Given the description of an element on the screen output the (x, y) to click on. 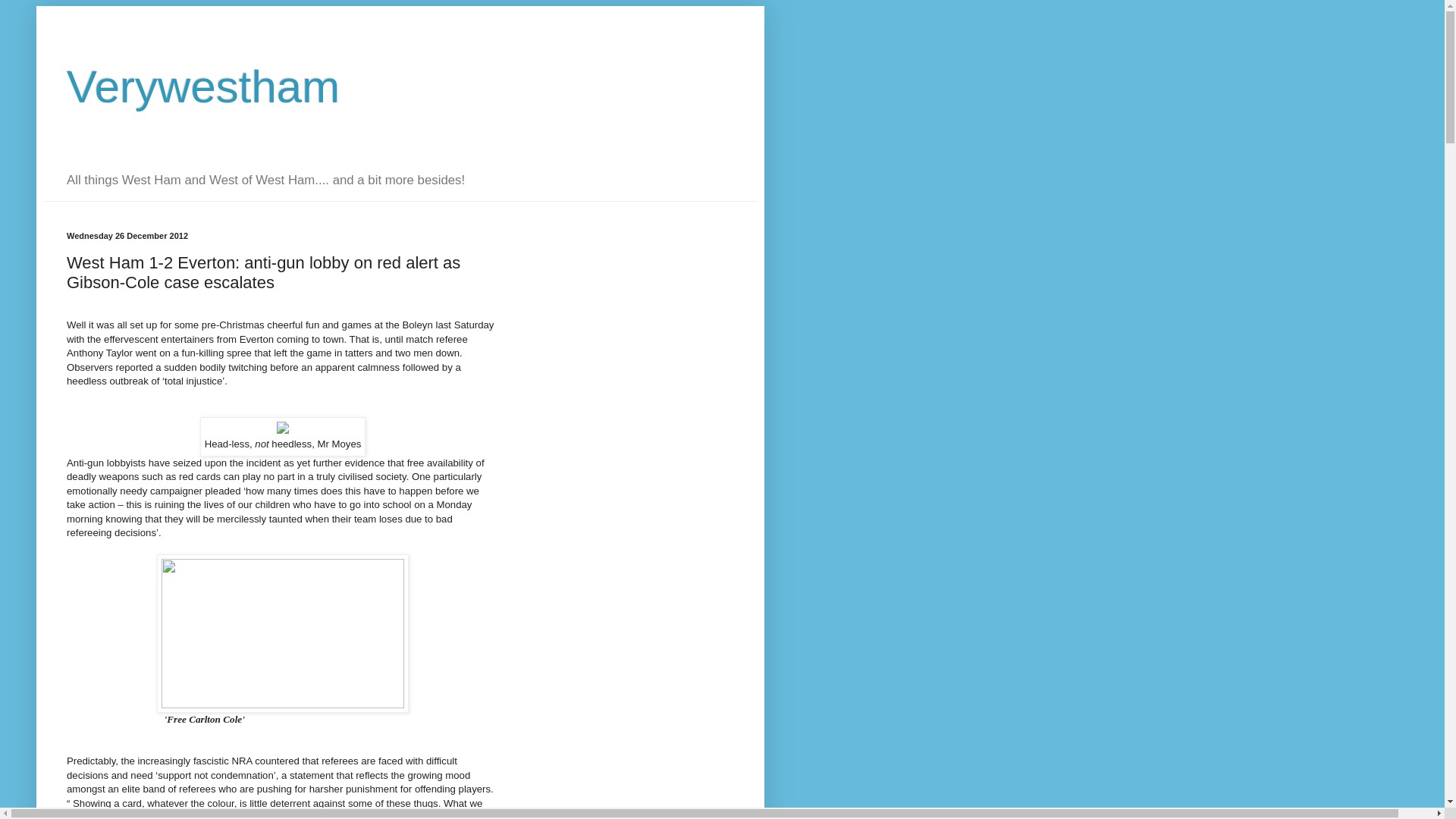
Verywestham (202, 86)
